Given the description of an element on the screen output the (x, y) to click on. 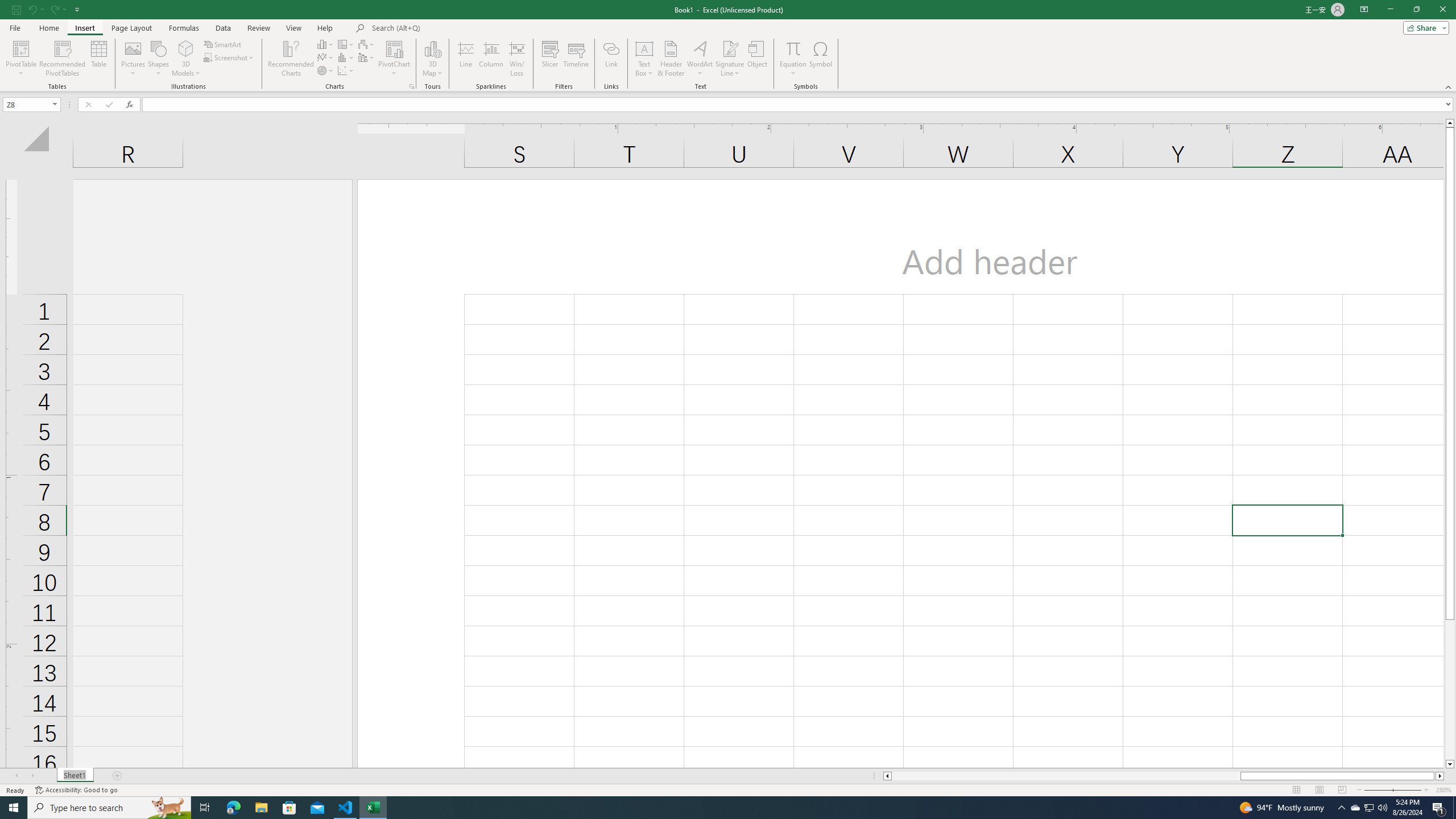
Slicer... (550, 58)
Equation (793, 48)
Signature Line (729, 58)
3D Models (186, 58)
PivotTable (20, 58)
Signature Line (729, 48)
